Given the description of an element on the screen output the (x, y) to click on. 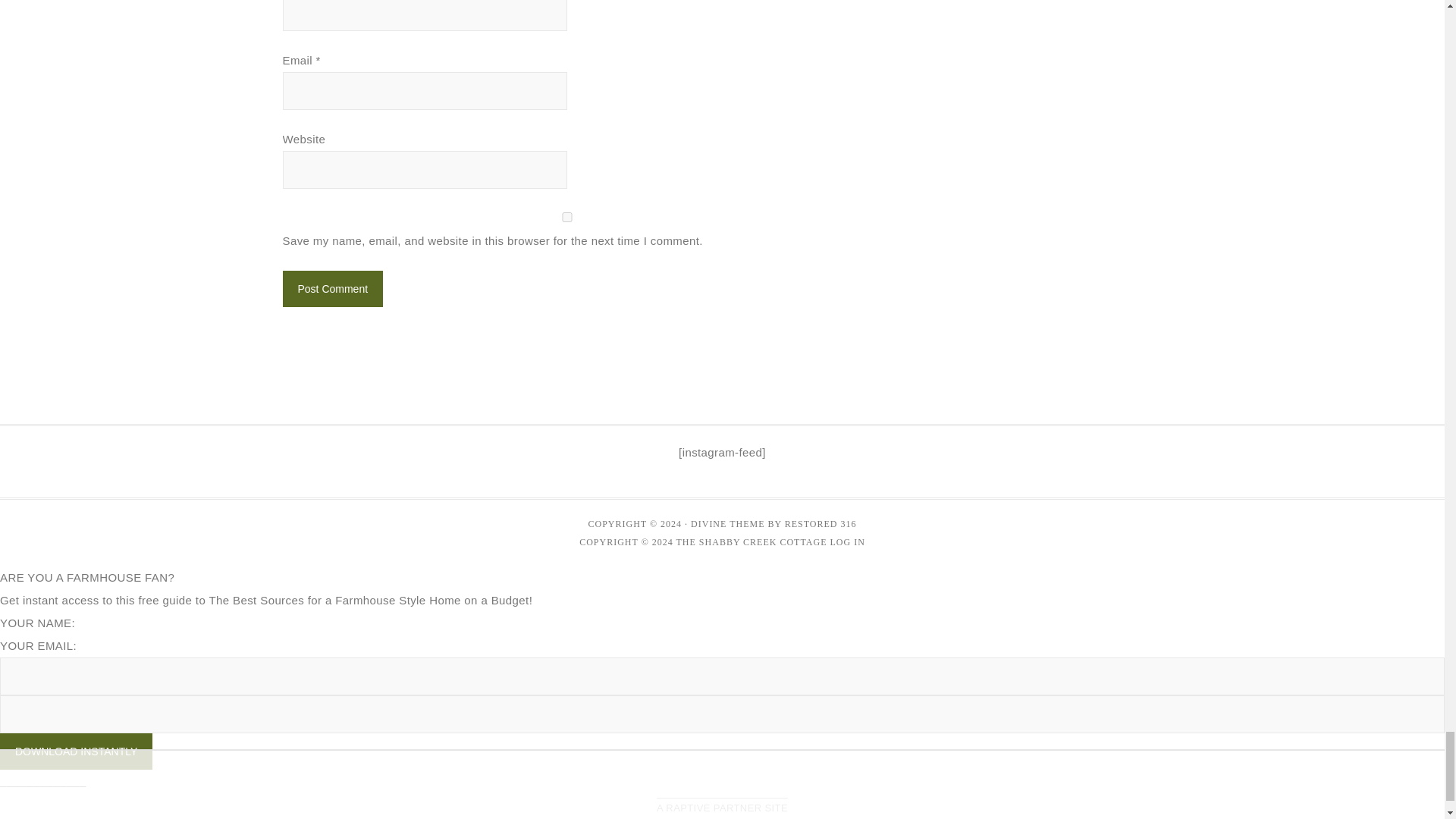
yes (566, 216)
DOWNLOAD INSTANTLY (76, 751)
Post Comment (332, 289)
